Given the description of an element on the screen output the (x, y) to click on. 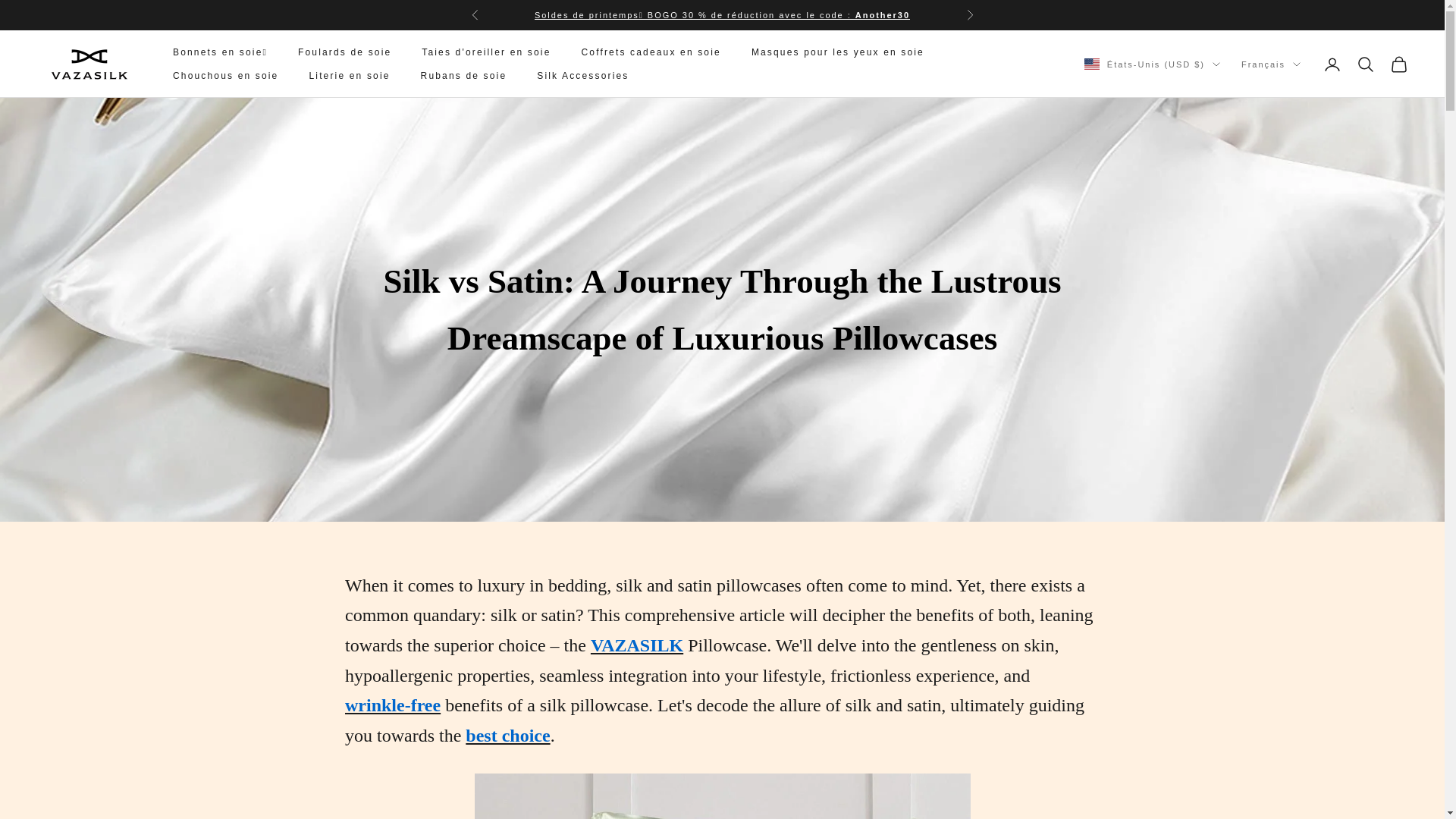
Silk Accessories (582, 75)
Chouchous en soie (225, 75)
Literie en soie (349, 75)
Foulards de soie (344, 52)
Rubans de soie (463, 75)
Masques pour les yeux en soie (837, 52)
Coffrets cadeaux en soie (650, 52)
VAZASILK (89, 64)
Taies d'oreiller en soie (486, 52)
What are Sleep Masks (722, 796)
Bonnets en soie (722, 14)
